Given the description of an element on the screen output the (x, y) to click on. 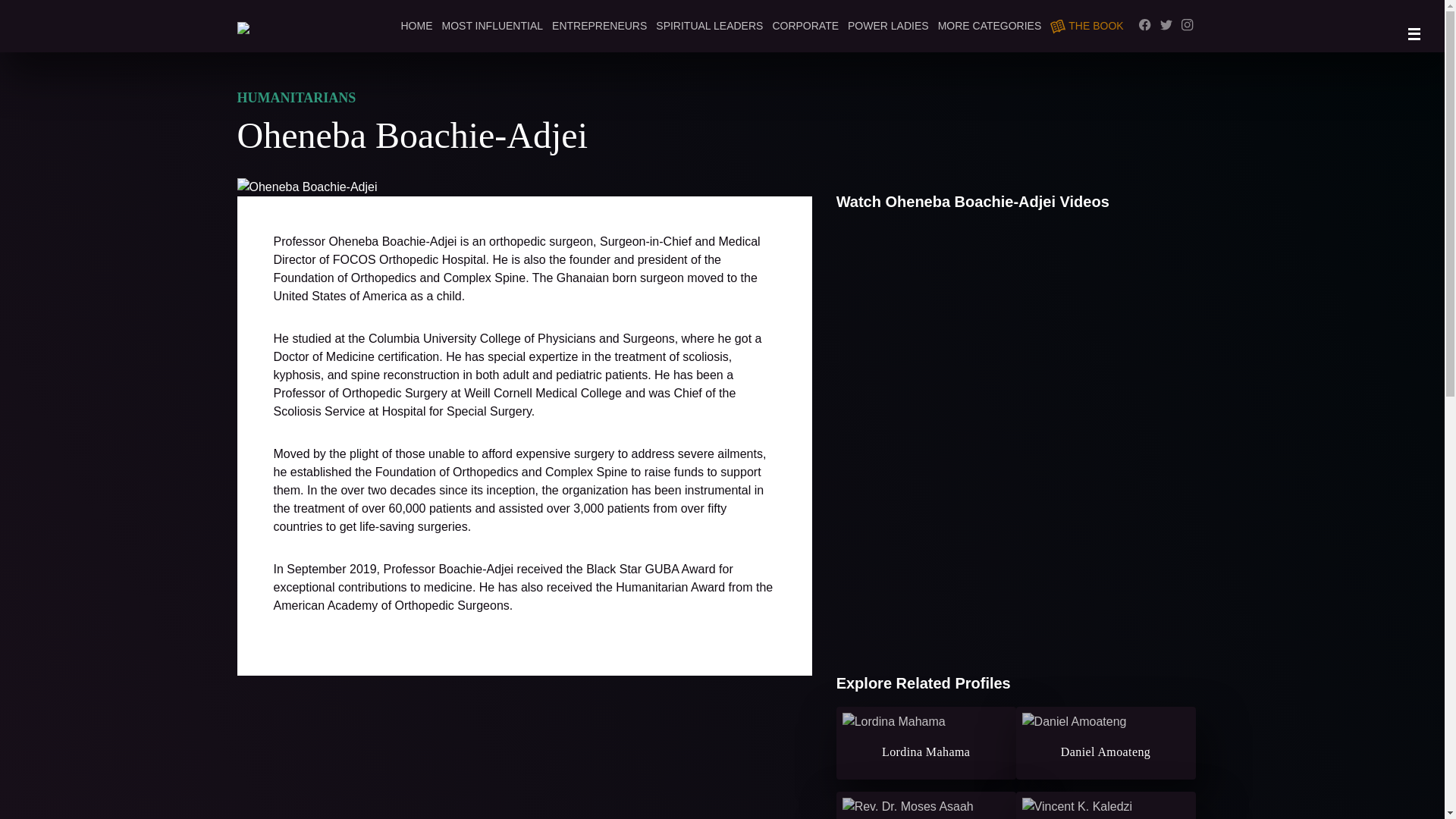
YouTube video player (1015, 332)
MORE CATEGORIES (989, 26)
Lordina Mahama (925, 742)
CORPORATE (804, 25)
Rev. Dr. Moses Asaah (925, 805)
Open Menu (1414, 33)
MOST INFLUENTIAL (492, 25)
SPIRITUAL LEADERS (709, 25)
YouTube video player (1015, 553)
POWER LADIES (887, 25)
